Given the description of an element on the screen output the (x, y) to click on. 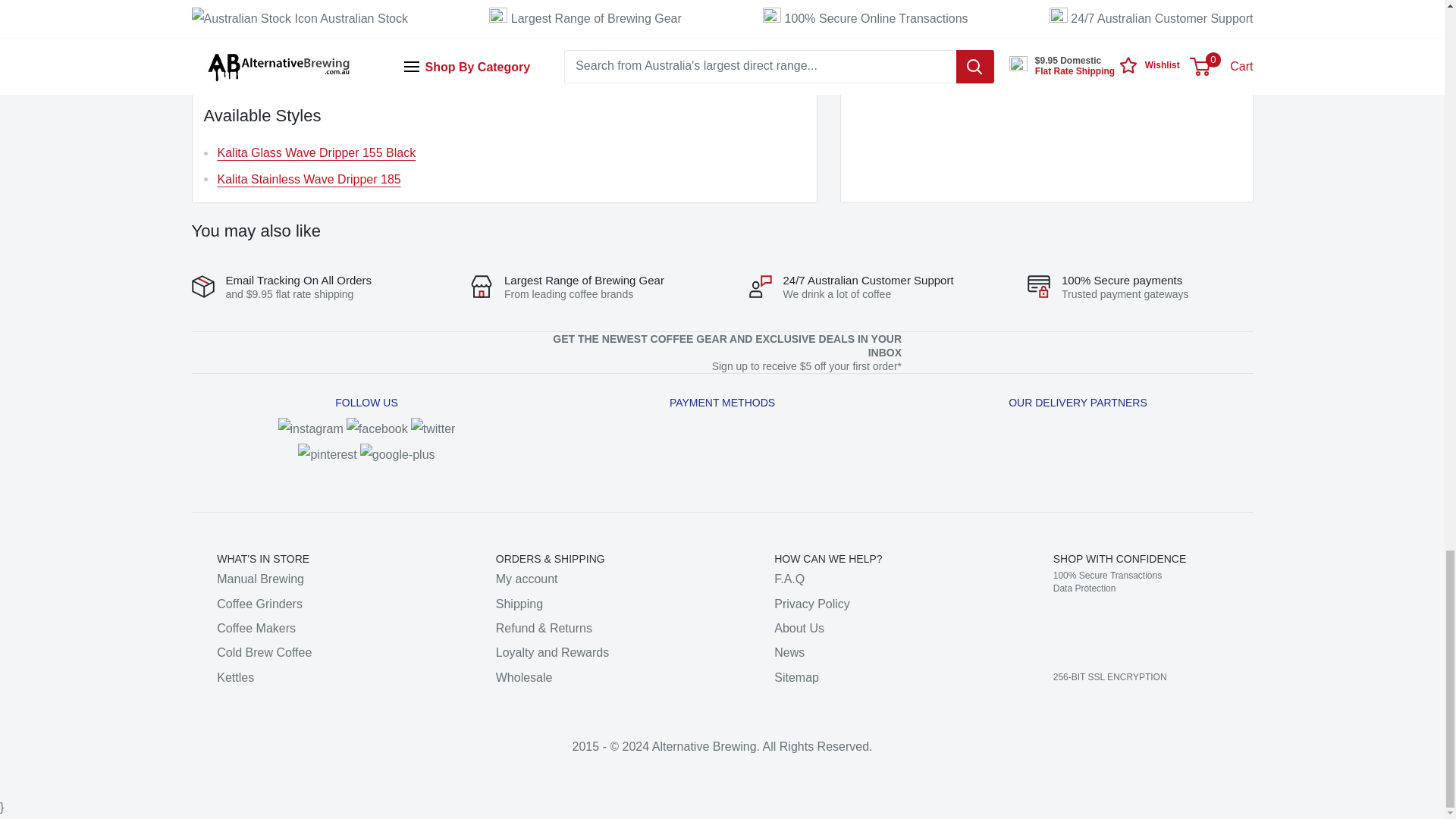
Twitter (432, 428)
Instagram (310, 428)
Pinterest (327, 454)
Facebook (376, 428)
YouTube (397, 454)
